Given the description of an element on the screen output the (x, y) to click on. 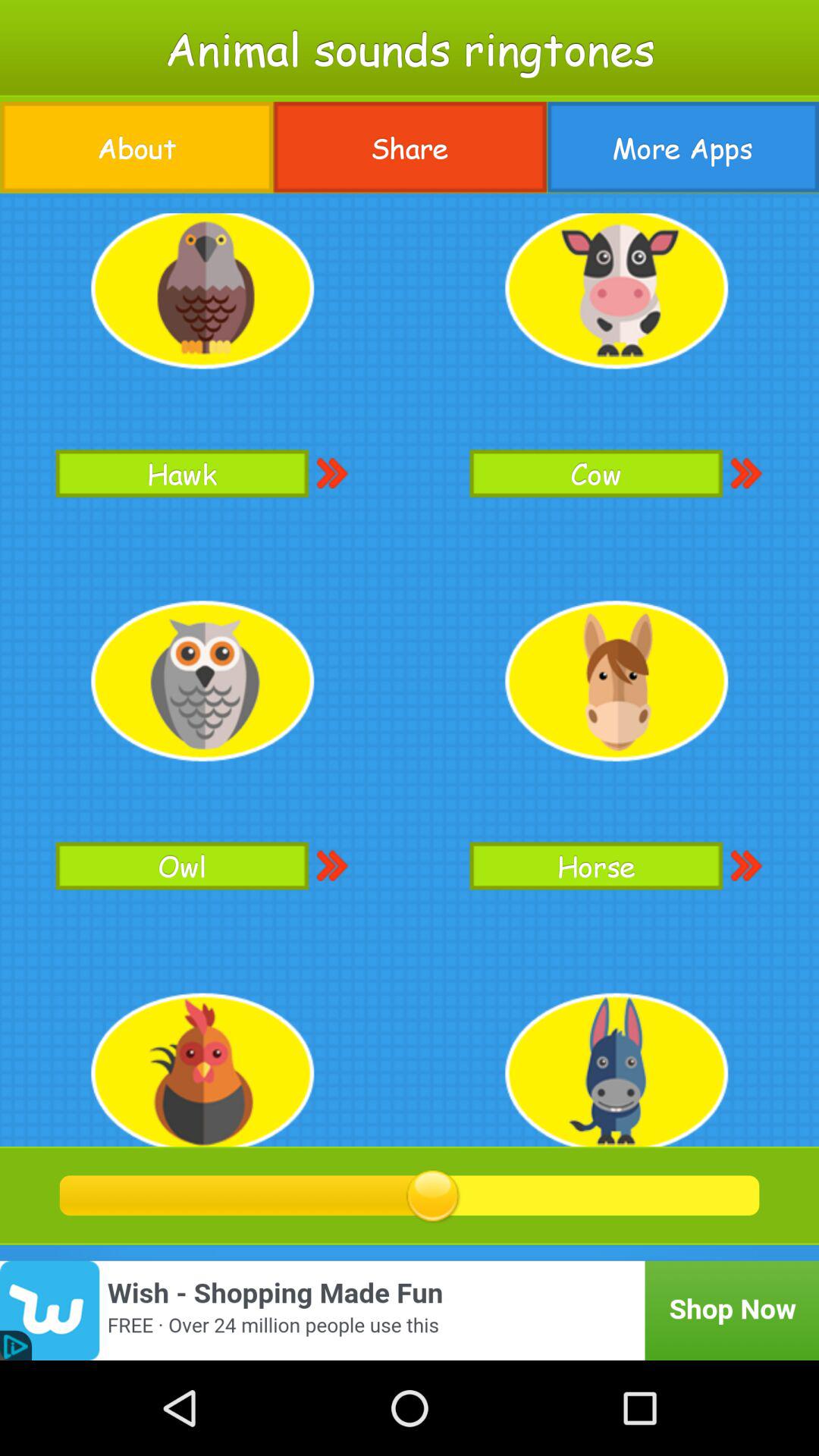
select item to the left of the share icon (136, 147)
